Given the description of an element on the screen output the (x, y) to click on. 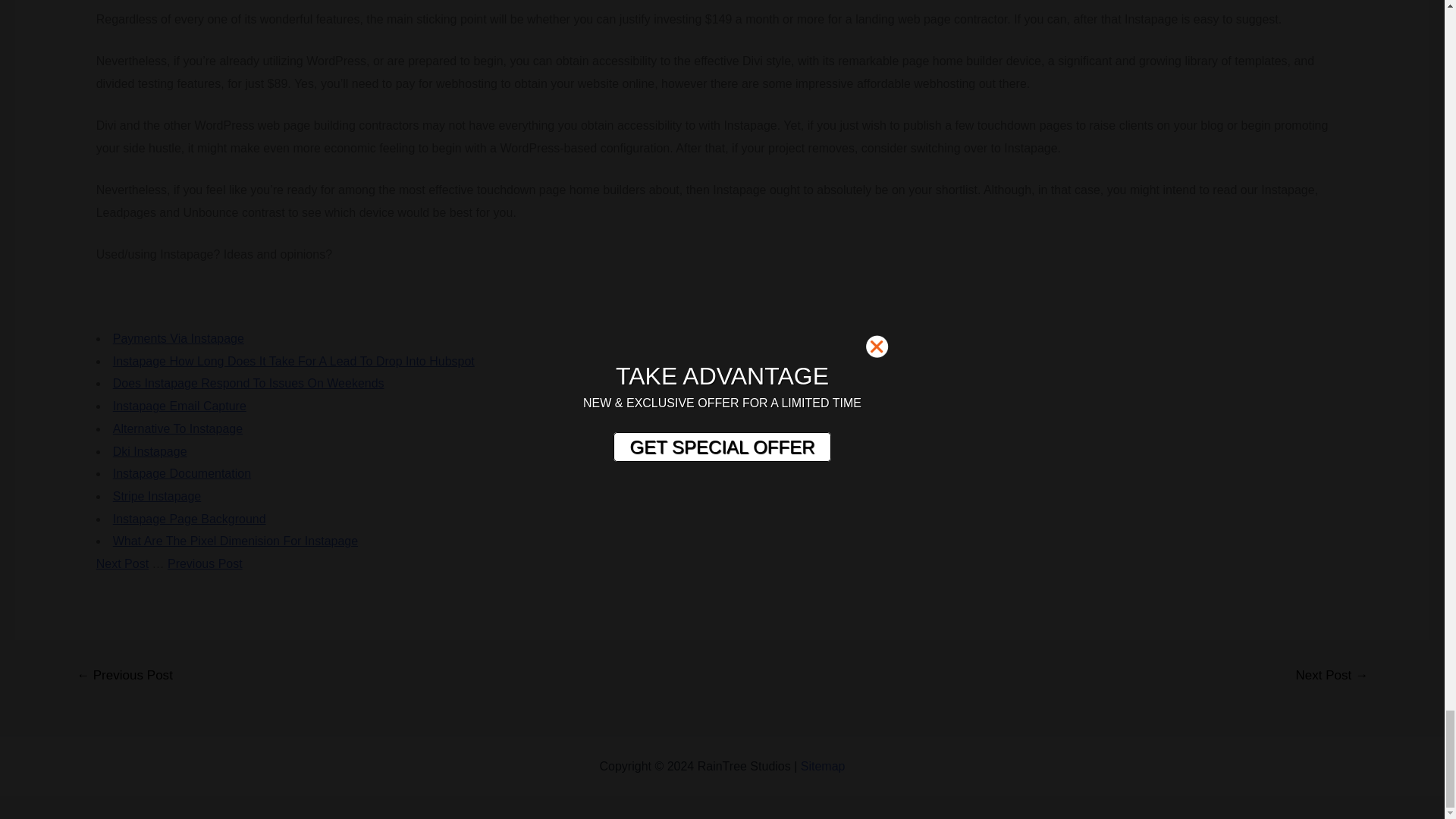
Next Post (122, 563)
Dki Instapage (150, 451)
Alternative To Instapage (178, 428)
Does Instapage Respond To Issues On Weekends (248, 382)
Stripe Instapage (157, 495)
Previous Post (205, 563)
What Are The Pixel Dimenision For Instapage (235, 540)
Does Instapage Respond To Issues On Weekends (248, 382)
Alternative To Instapage (178, 428)
Instapage Email Capture (179, 405)
Payments Via Instapage (178, 338)
Instapage Documentation (181, 472)
Payments Via Instapage (178, 338)
What Are The Pixel Dimenision For Instapage (235, 540)
